Given the description of an element on the screen output the (x, y) to click on. 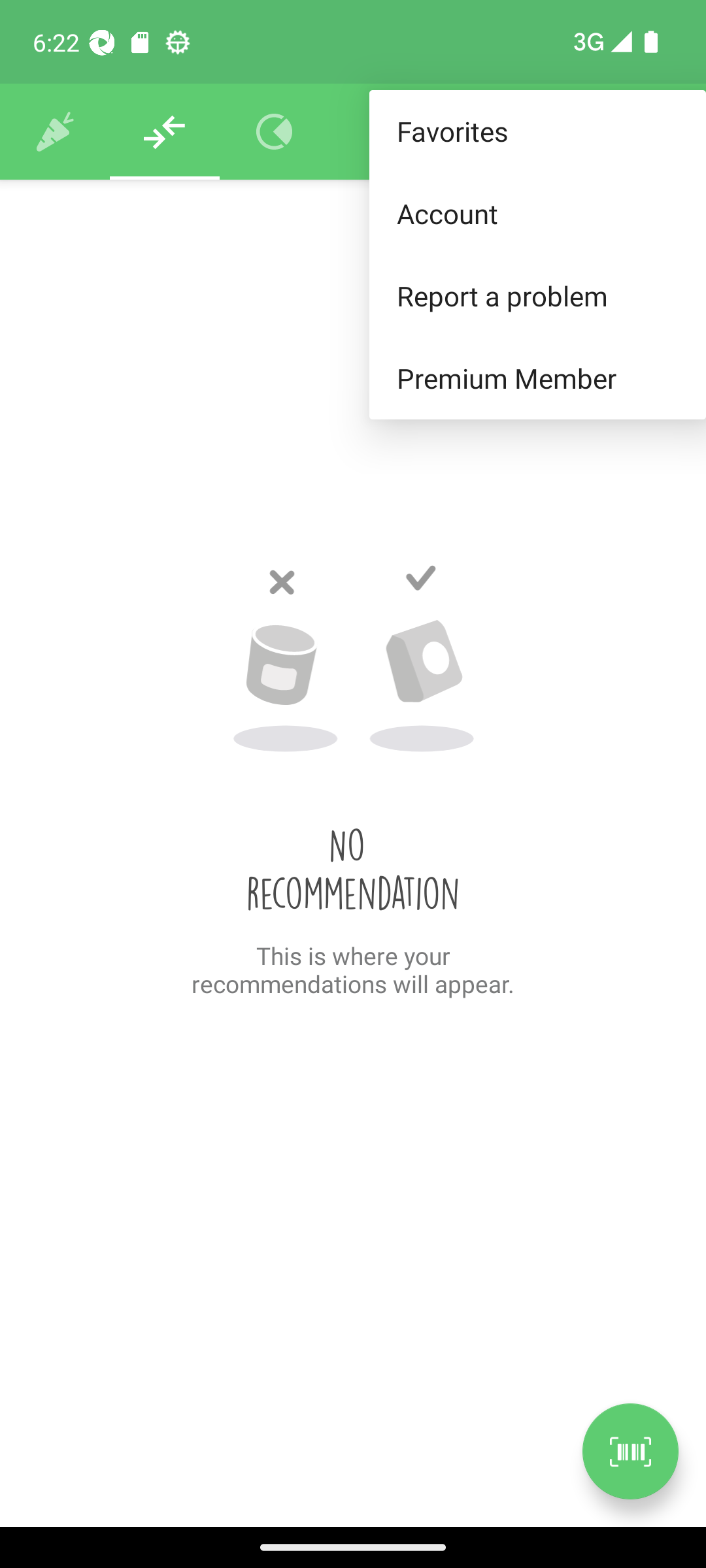
Favorites (537, 131)
Account (537, 213)
Report a problem (537, 295)
Premium Member (537, 378)
